Given the description of an element on the screen output the (x, y) to click on. 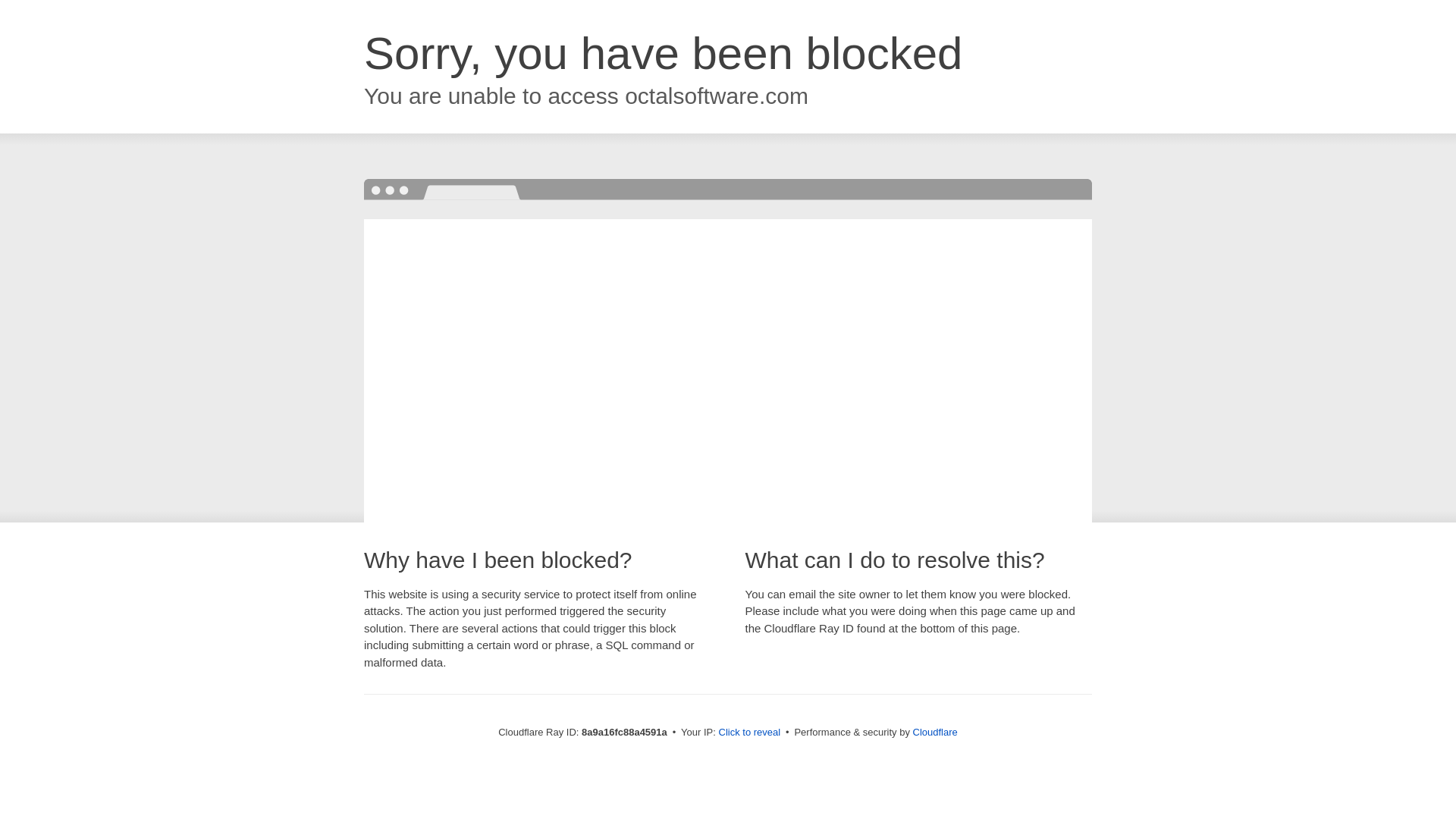
Cloudflare (935, 731)
Click to reveal (749, 732)
